Given the description of an element on the screen output the (x, y) to click on. 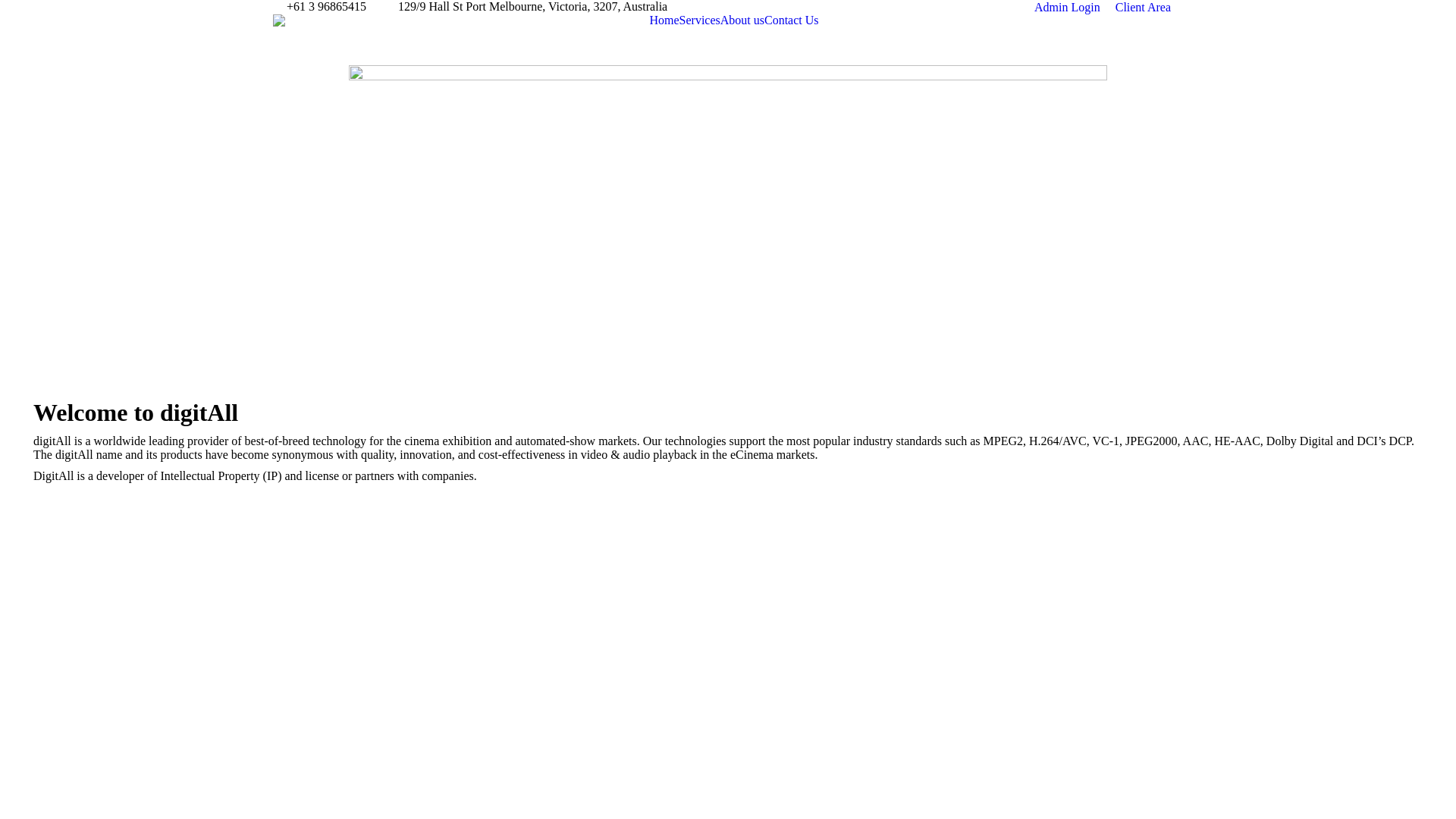
Services Element type: text (699, 20)
Contact Us Element type: text (791, 20)
digitall_prod2_dcpPlayer Element type: hover (727, 216)
Home Element type: text (663, 20)
About us Element type: text (742, 20)
